Given the description of an element on the screen output the (x, y) to click on. 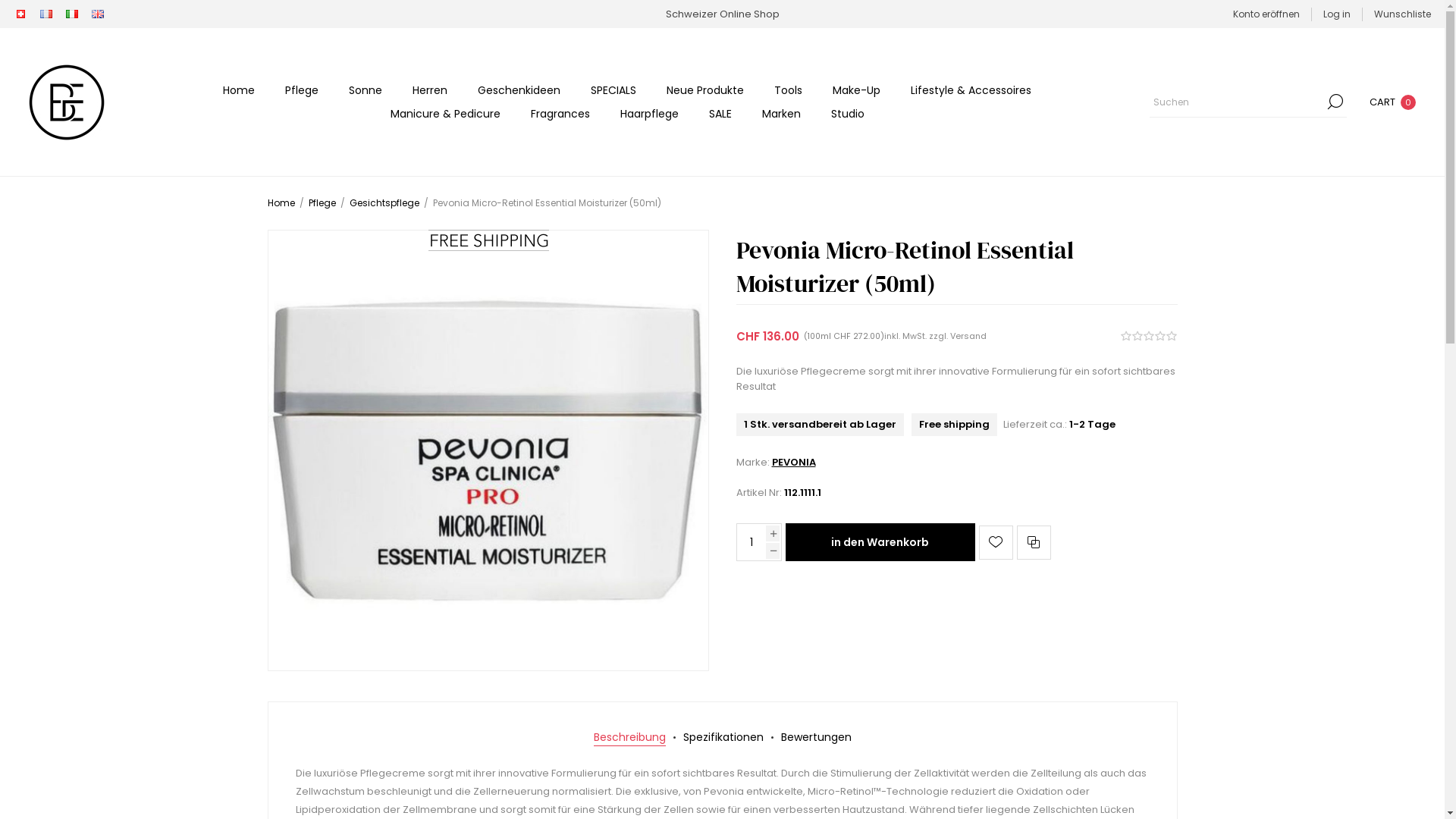
Suchen Element type: text (1335, 101)
Lifestyle & Accessoires Element type: text (970, 90)
Gesichtspflege Element type: text (383, 203)
Bewertungen Element type: text (816, 737)
Neue Produkte Element type: text (704, 90)
Make-Up Element type: text (856, 90)
Tools Element type: text (788, 90)
Sonne Element type: text (365, 90)
FR Element type: hover (46, 13)
Pflege Element type: text (321, 203)
Home Element type: text (238, 90)
Pflege Element type: text (301, 90)
PEVONIA Element type: text (793, 462)
Wunschliste Element type: text (1402, 14)
Home Element type: text (280, 203)
Beschreibung Element type: text (629, 737)
EN Element type: hover (97, 13)
SALE Element type: text (719, 113)
Geschenkideen Element type: text (518, 90)
Log in Element type: text (1336, 14)
FR Element type: hover (46, 13)
Auf die Wunschliste Element type: text (995, 542)
Herren Element type: text (429, 90)
Haarpflege Element type: text (649, 113)
Vergleichen Element type: text (1033, 542)
IT Element type: hover (71, 13)
SPECIALS Element type: text (613, 90)
IT Element type: hover (71, 13)
in den Warenkorb Element type: text (880, 542)
Bild von Pevonia Micro-Retinol Essential Moisturizer (50ml) Element type: hover (488, 450)
EN Element type: hover (97, 13)
Fragrances Element type: text (559, 113)
Manicure & Pedicure Element type: text (444, 113)
DE Element type: hover (20, 13)
DE Element type: hover (20, 13)
Studio Element type: text (847, 113)
CART 0 Element type: text (1390, 102)
Spezifikationen Element type: text (722, 737)
Marken Element type: text (780, 113)
